Given the description of an element on the screen output the (x, y) to click on. 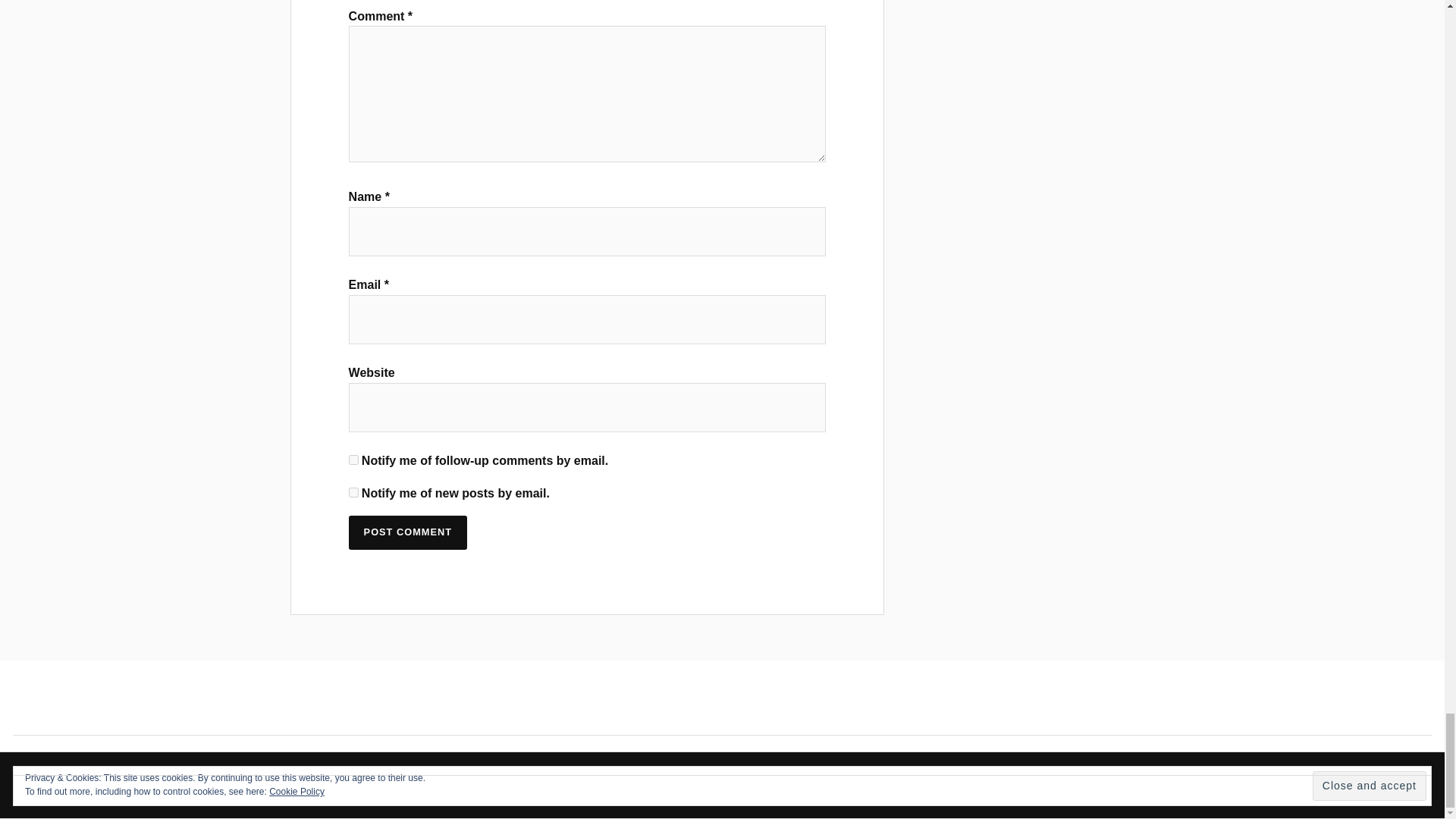
subscribe (353, 460)
subscribe (353, 492)
Post Comment (408, 532)
